Given the description of an element on the screen output the (x, y) to click on. 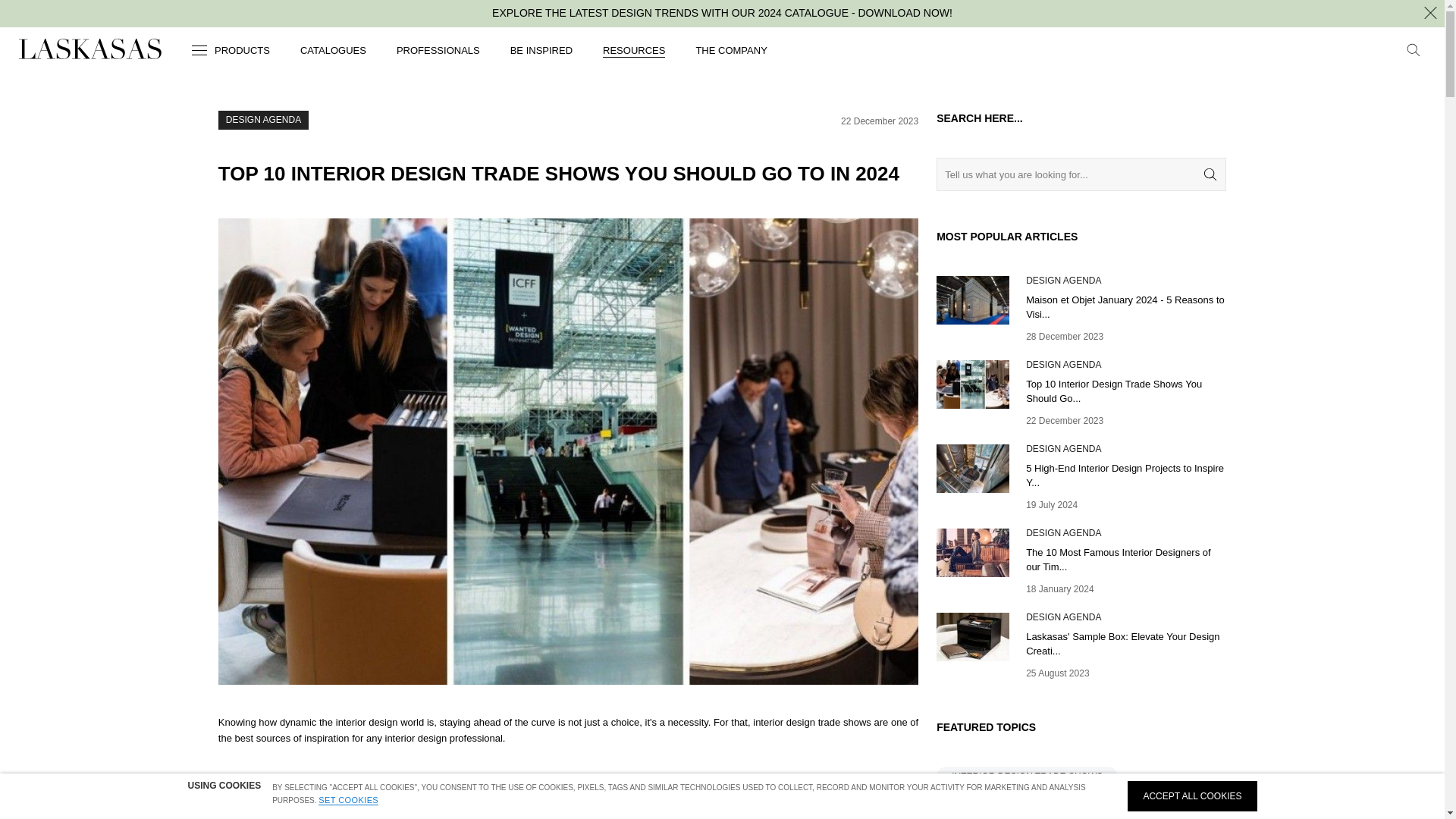
Products (229, 54)
The Company (731, 53)
Be Inspired (541, 53)
Laskasas (89, 51)
Professionals (438, 53)
Laskasas (89, 48)
Catalogues (332, 53)
Close (1430, 13)
ACCEPT ALL COOKIES (1191, 796)
Resources (633, 53)
